Given the description of an element on the screen output the (x, y) to click on. 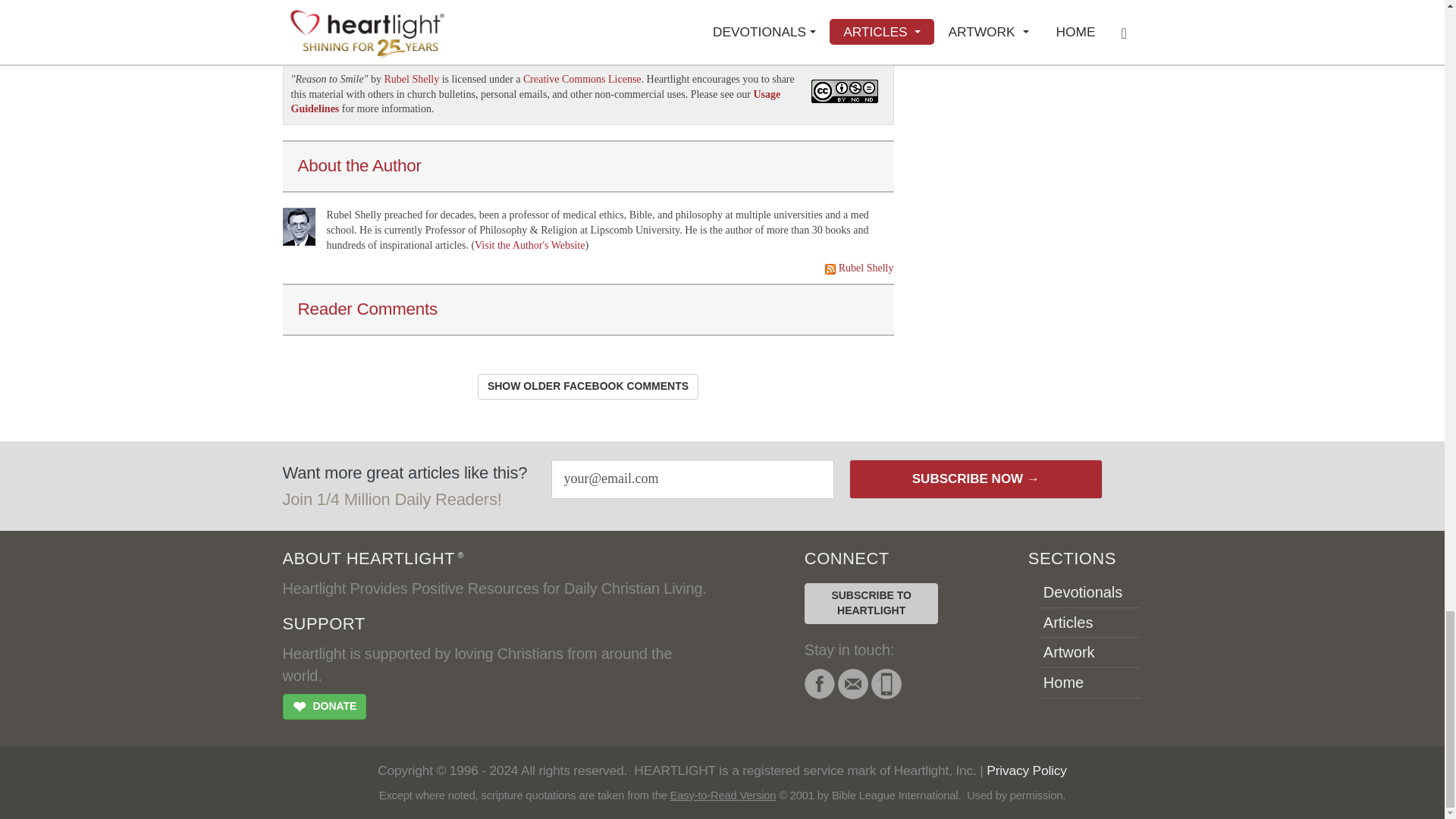
Contact Us (852, 684)
Get the Heartlight App (885, 684)
RSS Feed of Rubel Shelly's Articles (865, 267)
RSS Feed of Rubel Shelly's Articles (830, 268)
Heartlight on Facebook (819, 684)
